Given the description of an element on the screen output the (x, y) to click on. 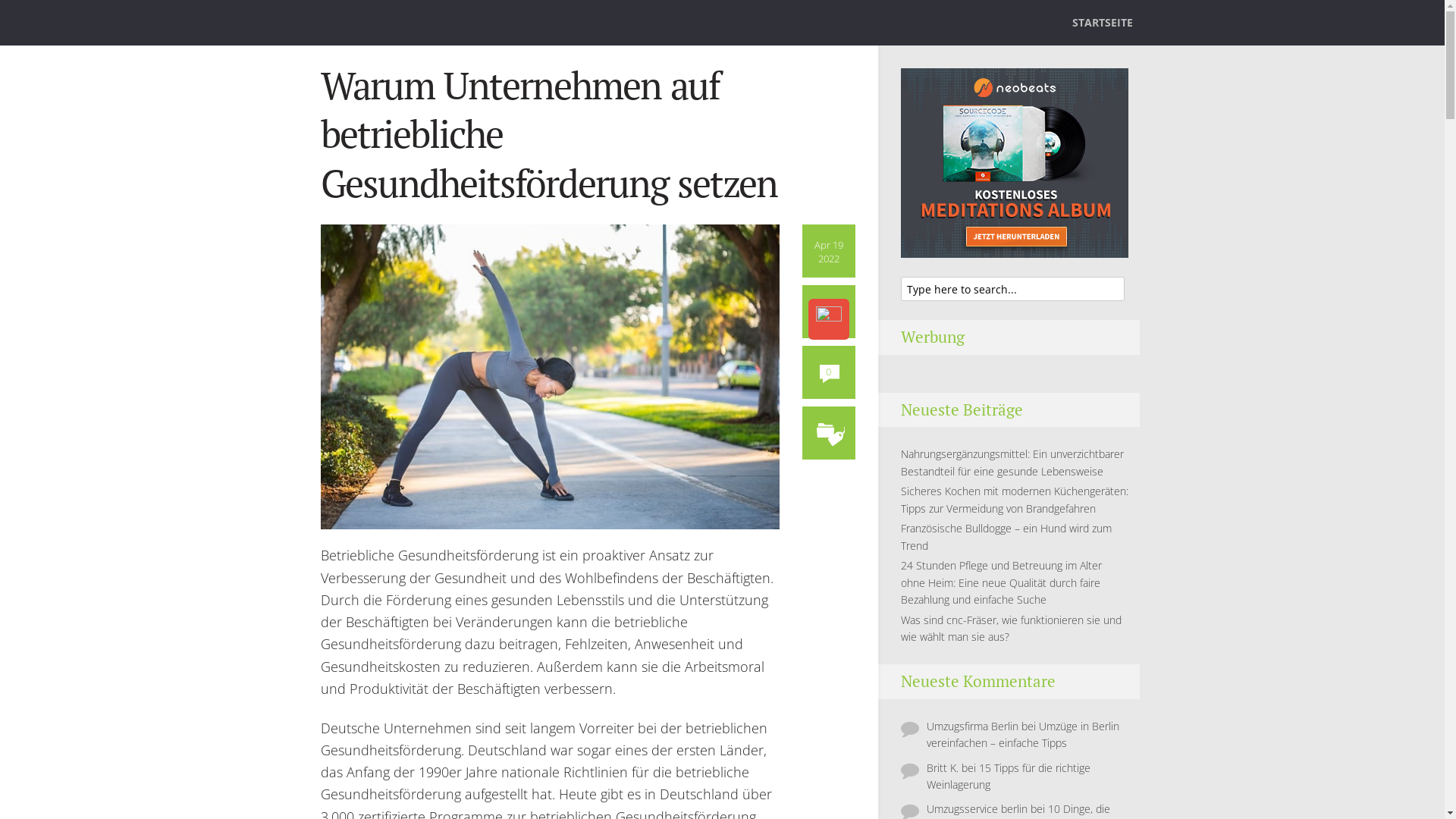
STARTSEITE Element type: text (1102, 31)
